Given the description of an element on the screen output the (x, y) to click on. 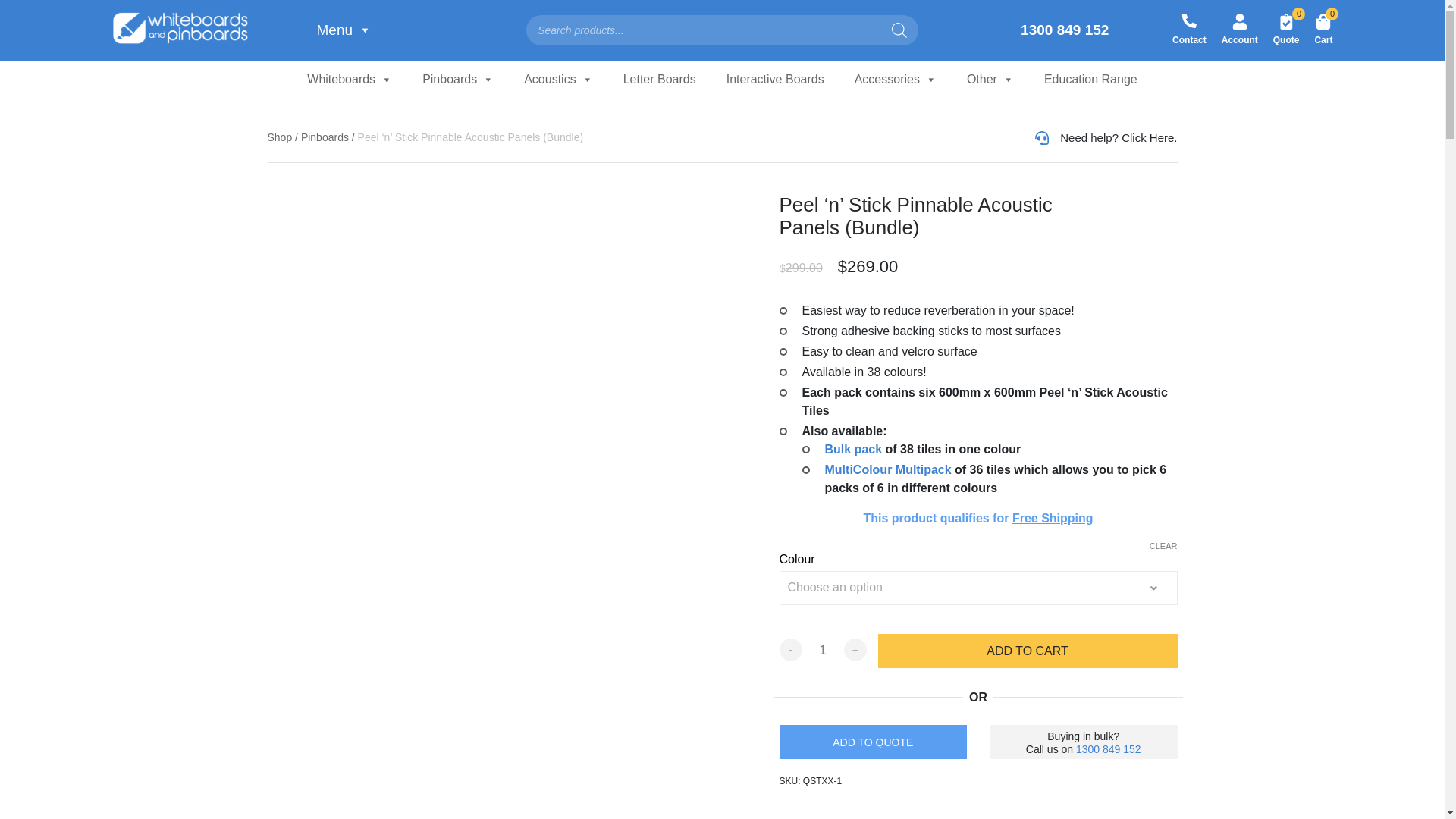
1 (822, 650)
